Given the description of an element on the screen output the (x, y) to click on. 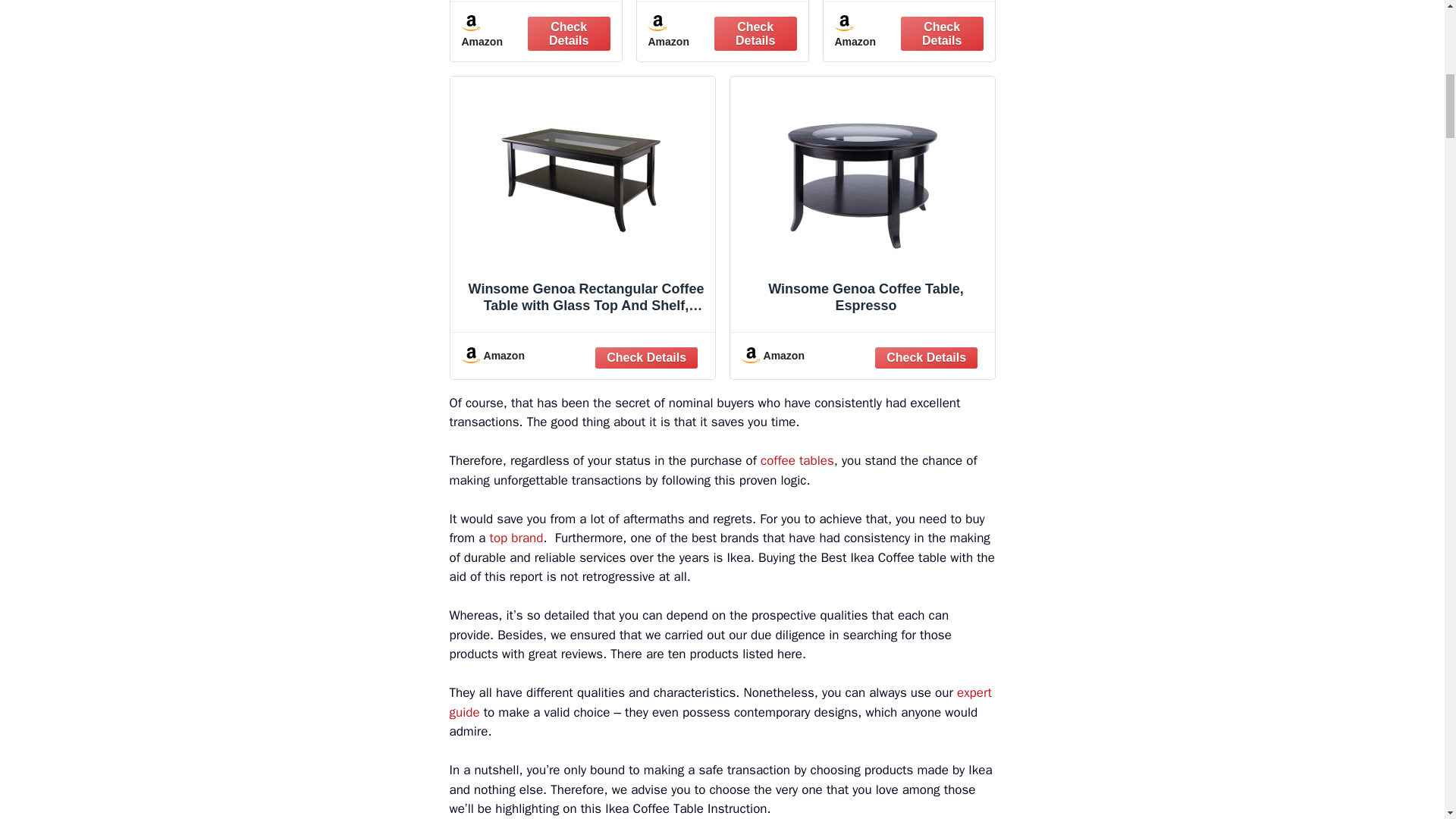
expert guide (719, 702)
Winsome Genoa Coffee Table, Espresso (861, 207)
Scroll back to top (1406, 720)
Amazon (721, 31)
Amazon (535, 31)
Amazon (582, 355)
top brand (516, 537)
Amazon (862, 355)
Amazon (908, 31)
